Given the description of an element on the screen output the (x, y) to click on. 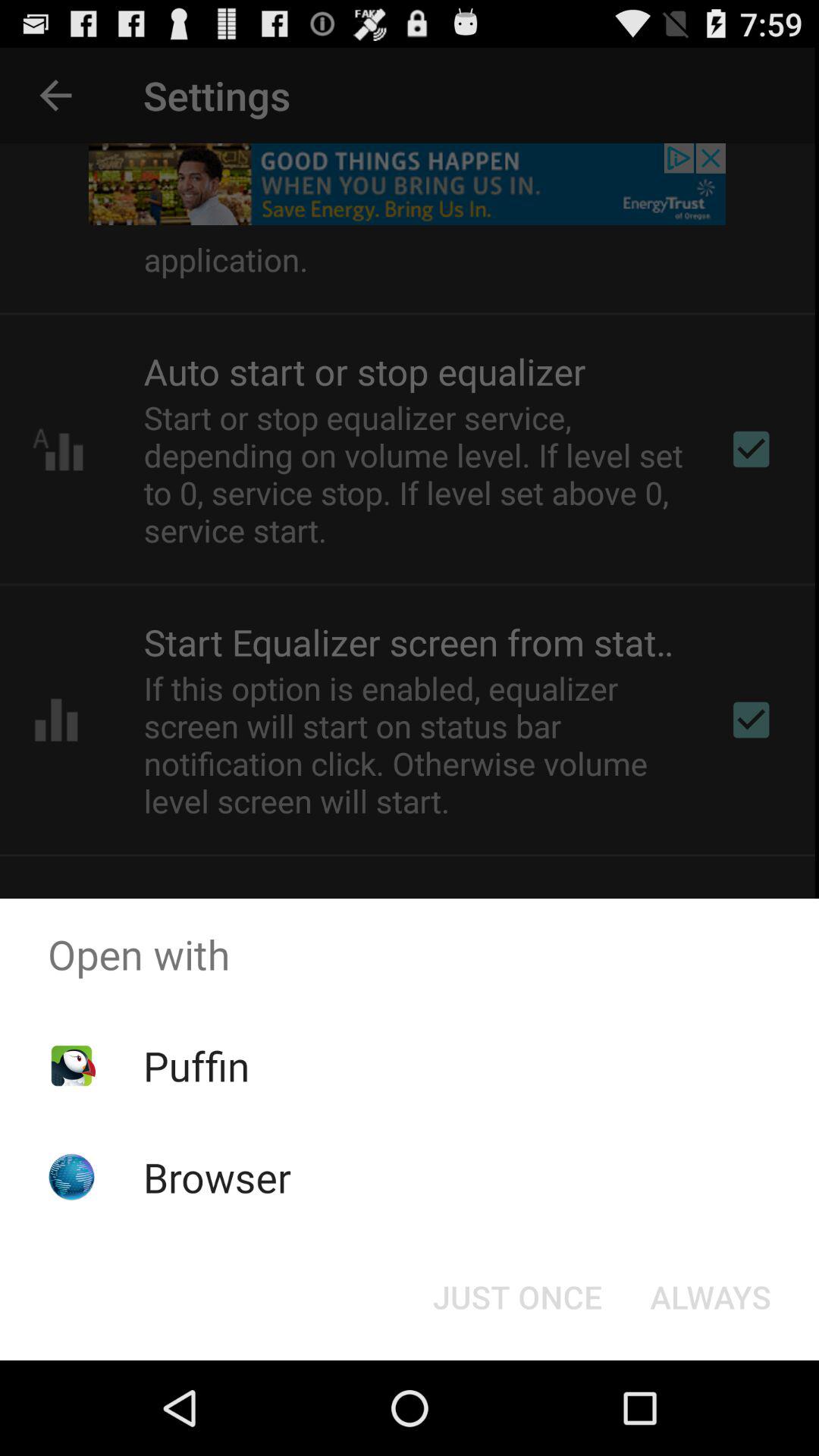
jump to always icon (710, 1296)
